Given the description of an element on the screen output the (x, y) to click on. 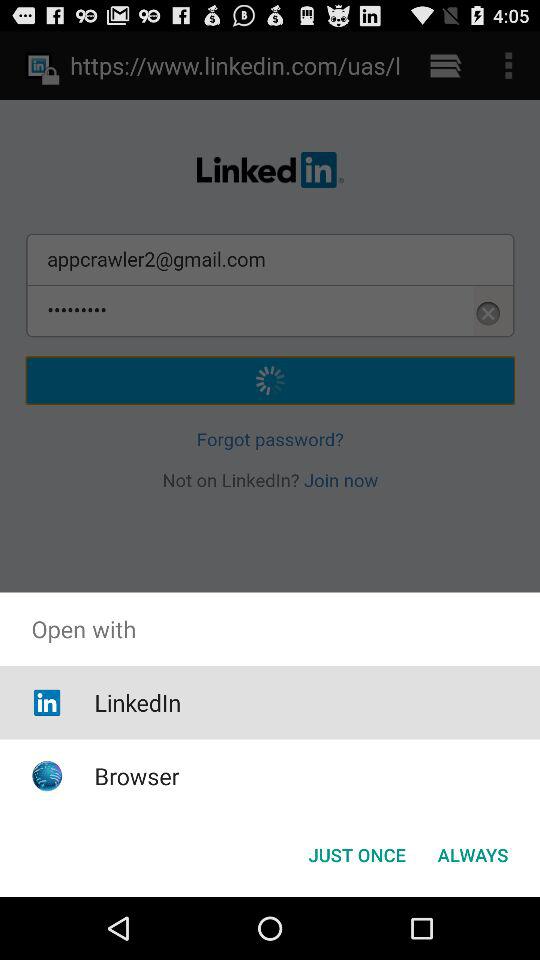
click the item to the left of the always (356, 854)
